Given the description of an element on the screen output the (x, y) to click on. 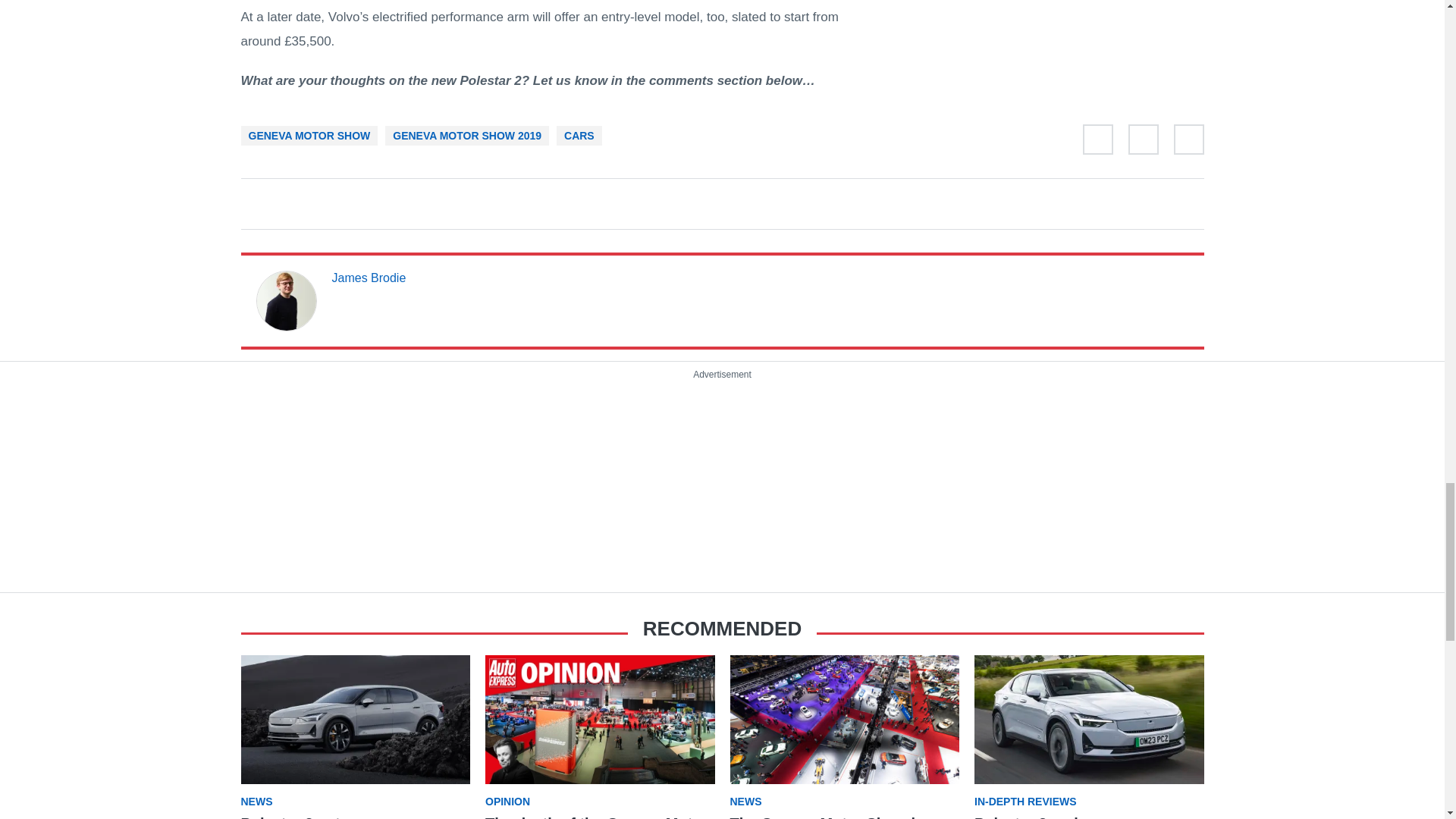
GENEVA MOTOR SHOW (309, 134)
GENEVA MOTOR SHOW 2019 (466, 134)
Share this on Twitter (1098, 142)
